Given the description of an element on the screen output the (x, y) to click on. 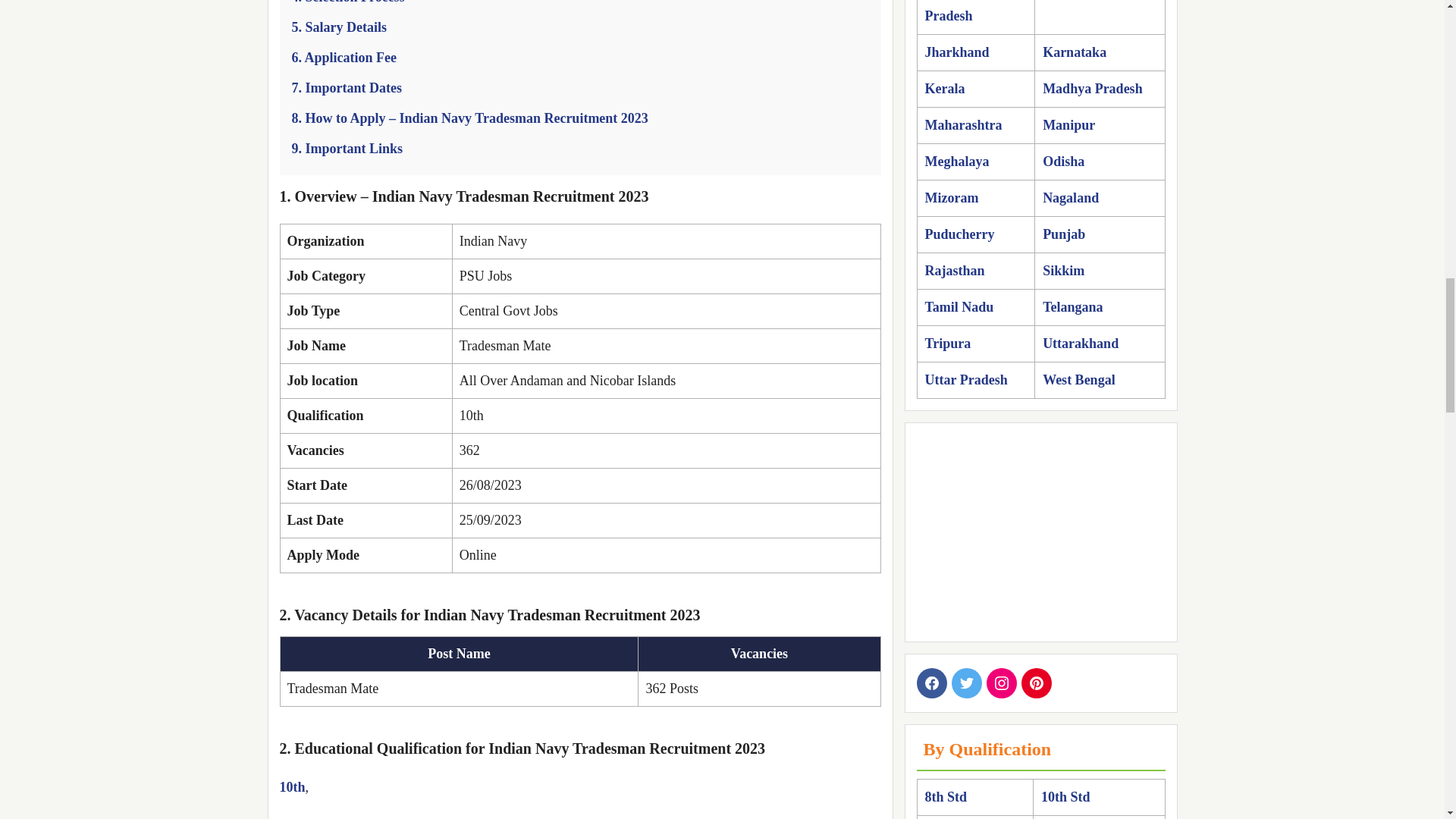
6. Application Fee (343, 57)
4. Selection Process (347, 2)
5. Salary Details (339, 27)
